Given the description of an element on the screen output the (x, y) to click on. 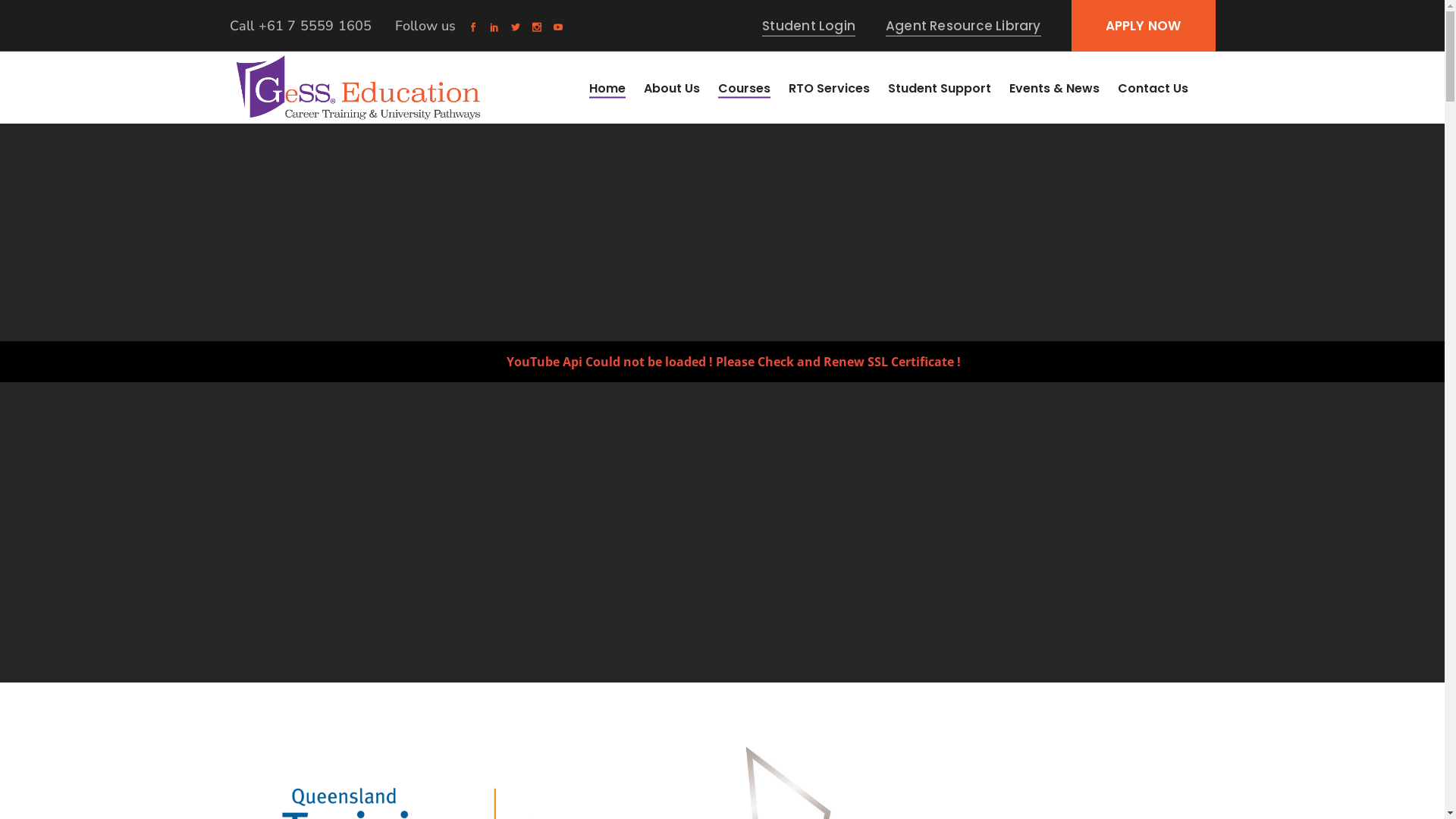
Home Element type: text (606, 87)
Call +61 7 5559 1605 Element type: text (300, 25)
Student Login Element type: text (808, 25)
Contact Us Element type: text (1152, 87)
APPLY NOW Element type: text (1143, 25)
About Us Element type: text (670, 87)
Student Support Element type: text (938, 87)
Courses Element type: text (743, 87)
RTO Services Element type: text (828, 87)
Events & News Element type: text (1053, 87)
Agent Resource Library Element type: text (963, 25)
